Given the description of an element on the screen output the (x, y) to click on. 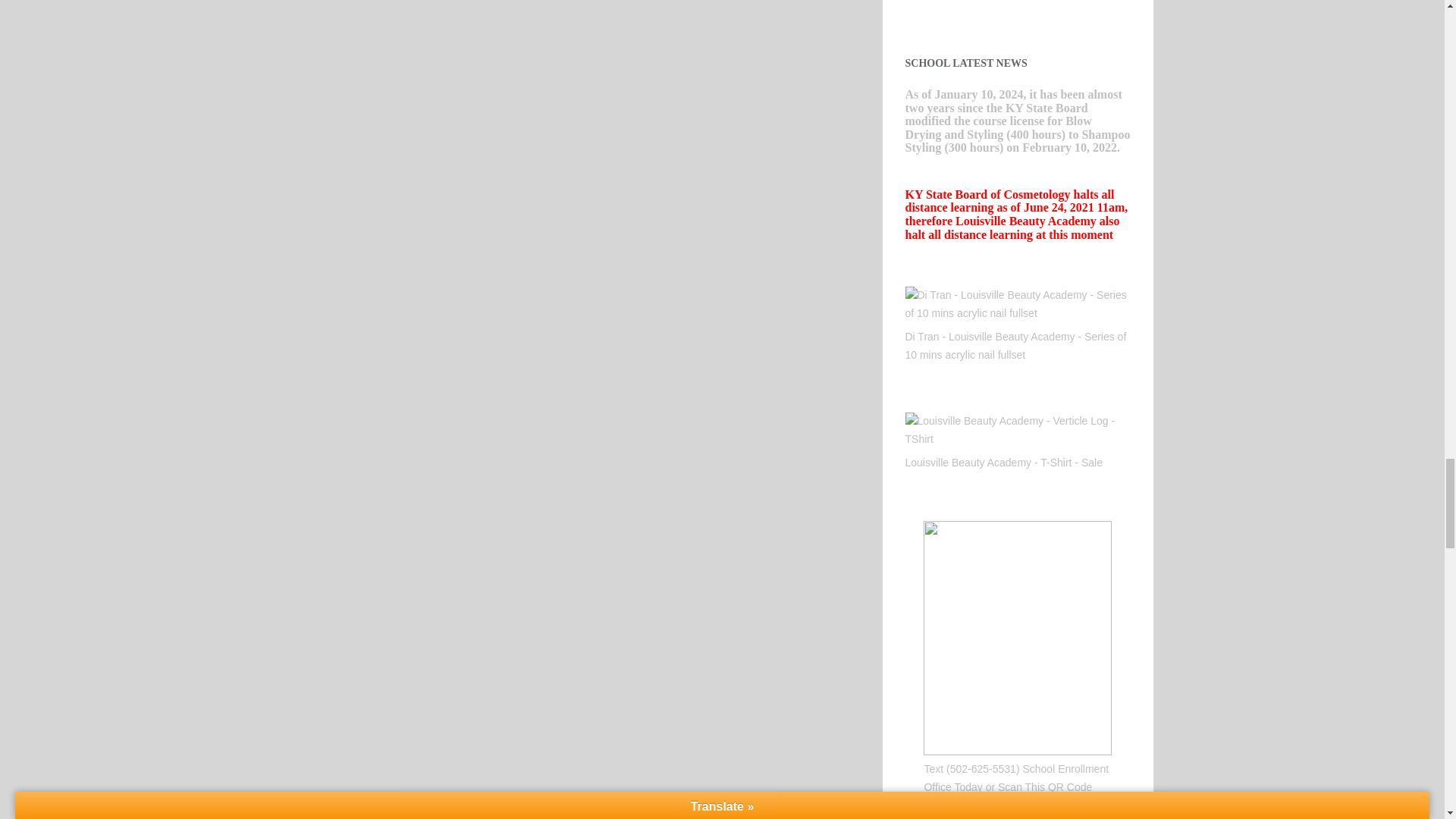
Louisville Beauty Academy - T-Shirt - Sale (1003, 462)
